Given the description of an element on the screen output the (x, y) to click on. 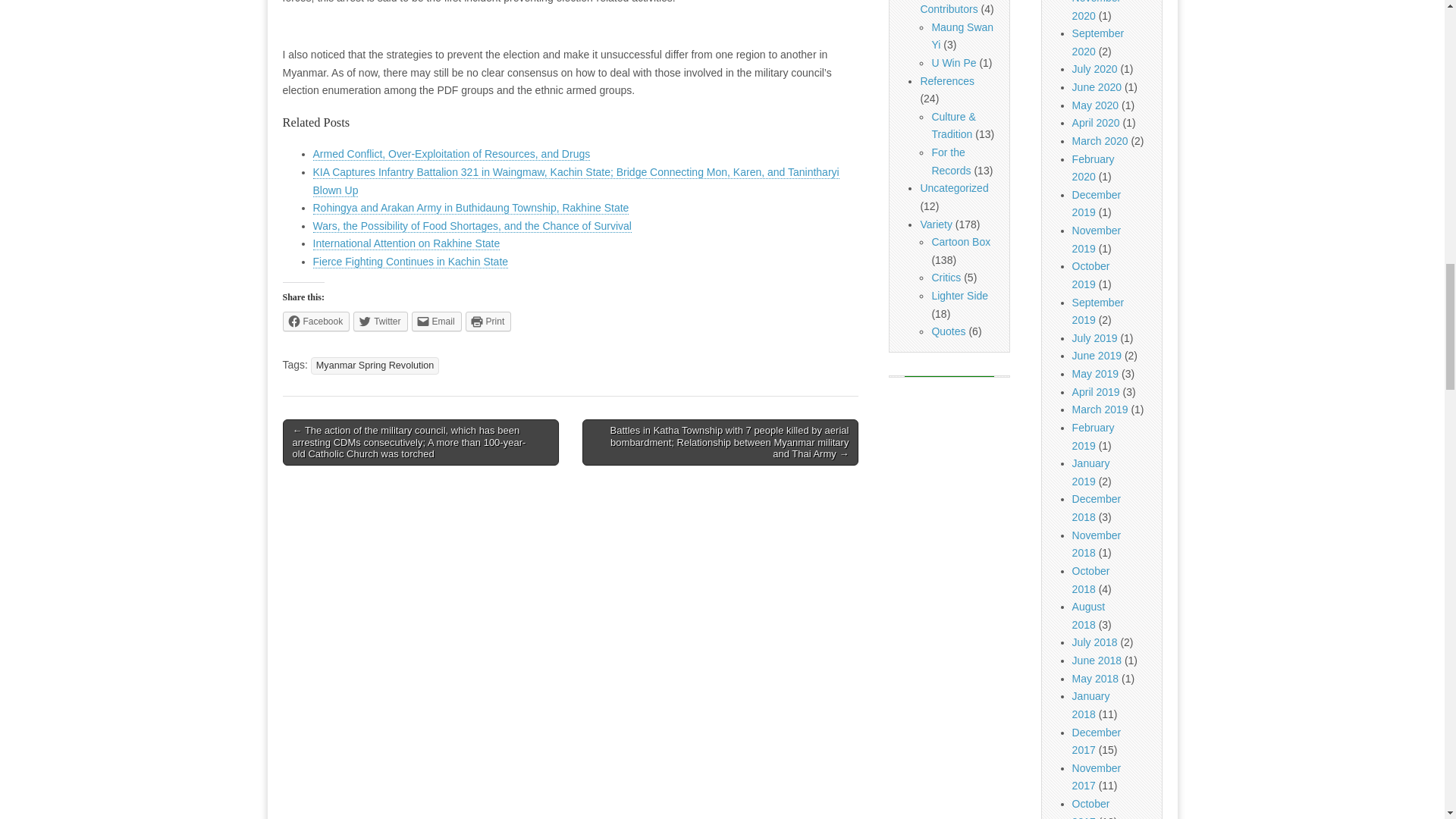
Click to print (488, 321)
Print (488, 321)
Fierce Fighting Continues in Kachin State (410, 261)
Click to email a link to a friend (436, 321)
Twitter (380, 321)
International Attention on Rakhine State (406, 243)
Armed Conflict, Over-Exploitation of Resources, and Drugs (451, 154)
Facebook (315, 321)
Click to share on Twitter (380, 321)
Click to share on Facebook (315, 321)
Myanmar Spring Revolution (375, 365)
Email (436, 321)
